Given the description of an element on the screen output the (x, y) to click on. 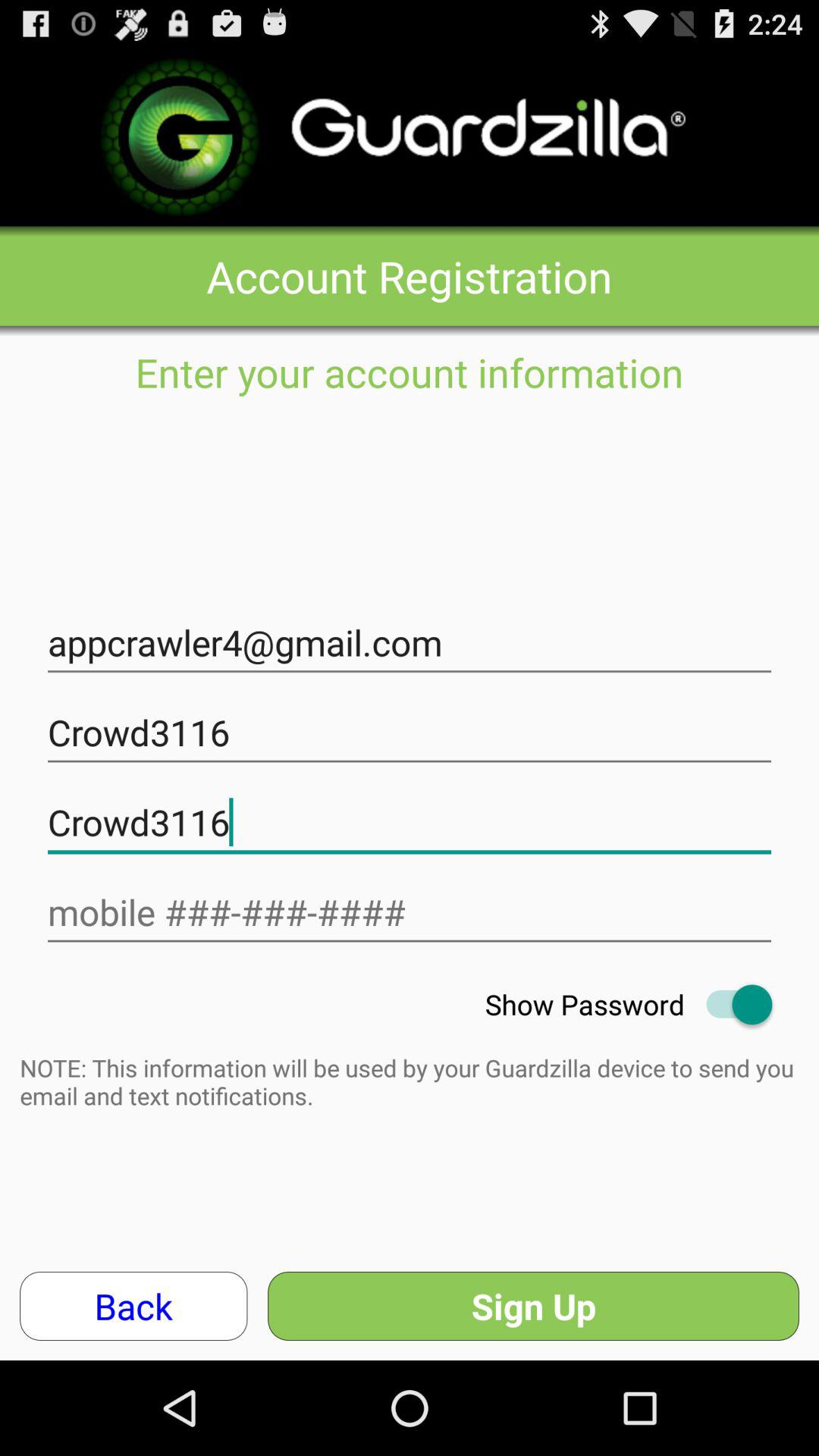
add mobile phone number (409, 912)
